Given the description of an element on the screen output the (x, y) to click on. 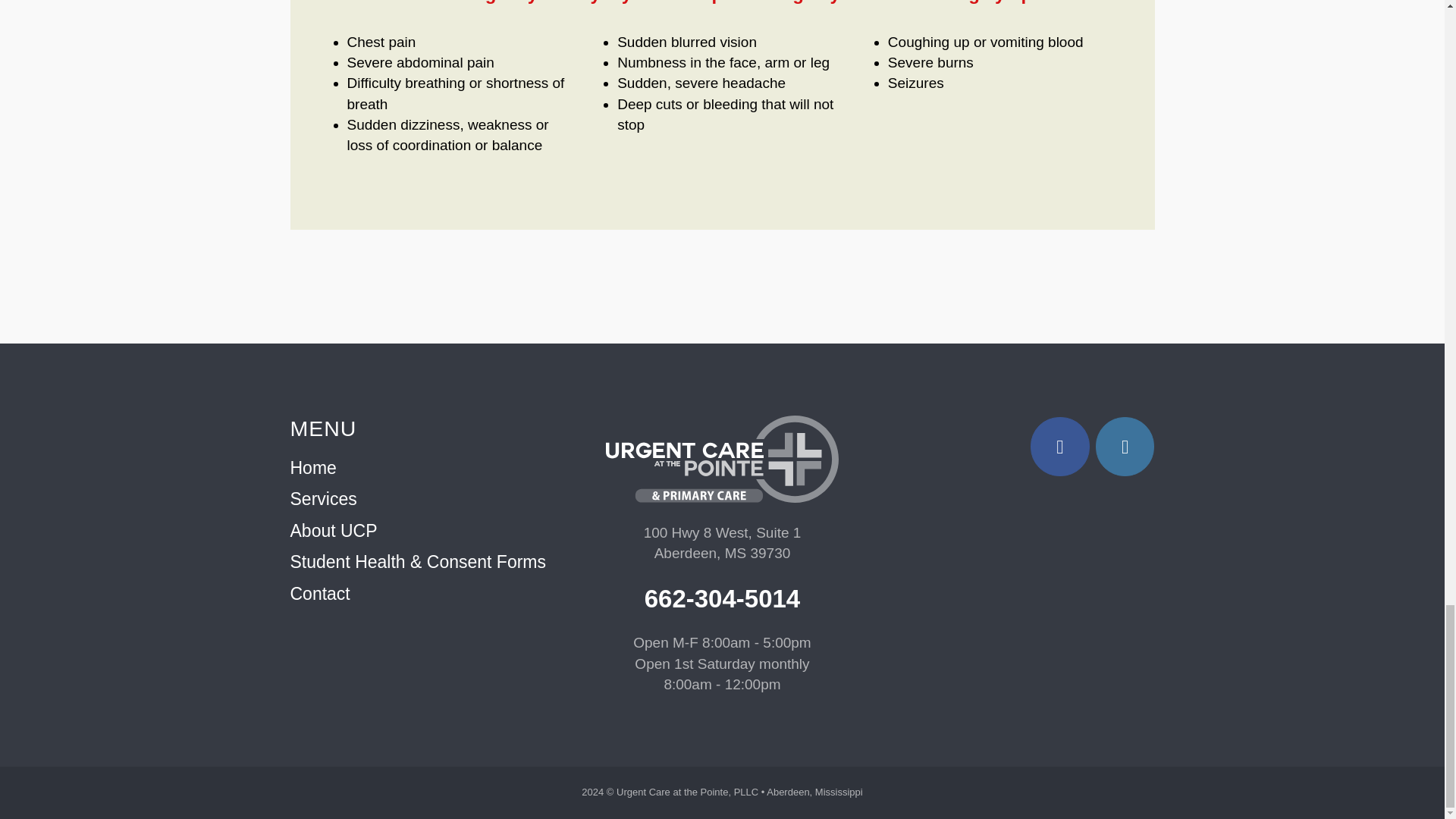
About UCP (333, 530)
Services (322, 498)
Contact (319, 593)
Urgent Care at the Pointe on Facebook (1059, 445)
Urgent Care at the Pointe on Instagram (1125, 445)
Home (312, 467)
